Given the description of an element on the screen output the (x, y) to click on. 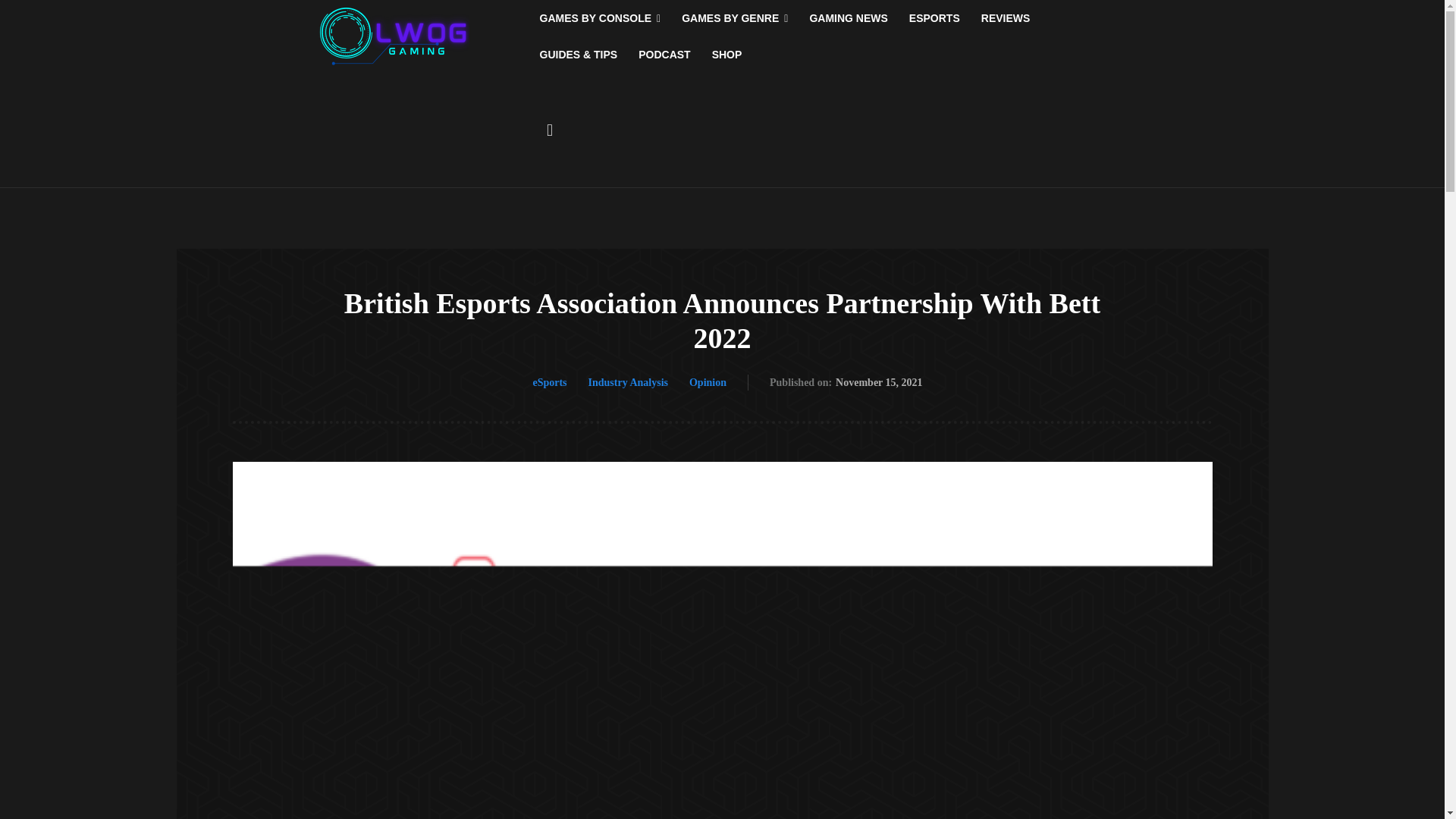
GAMES BY CONSOLE (600, 18)
PODCAST (663, 54)
ESPORTS (934, 18)
GAMES BY GENRE (734, 18)
GAMING NEWS (847, 18)
REVIEWS (1006, 18)
SHOP (726, 54)
Opinion (707, 382)
eSports (549, 382)
Industry Analysis (628, 382)
